Given the description of an element on the screen output the (x, y) to click on. 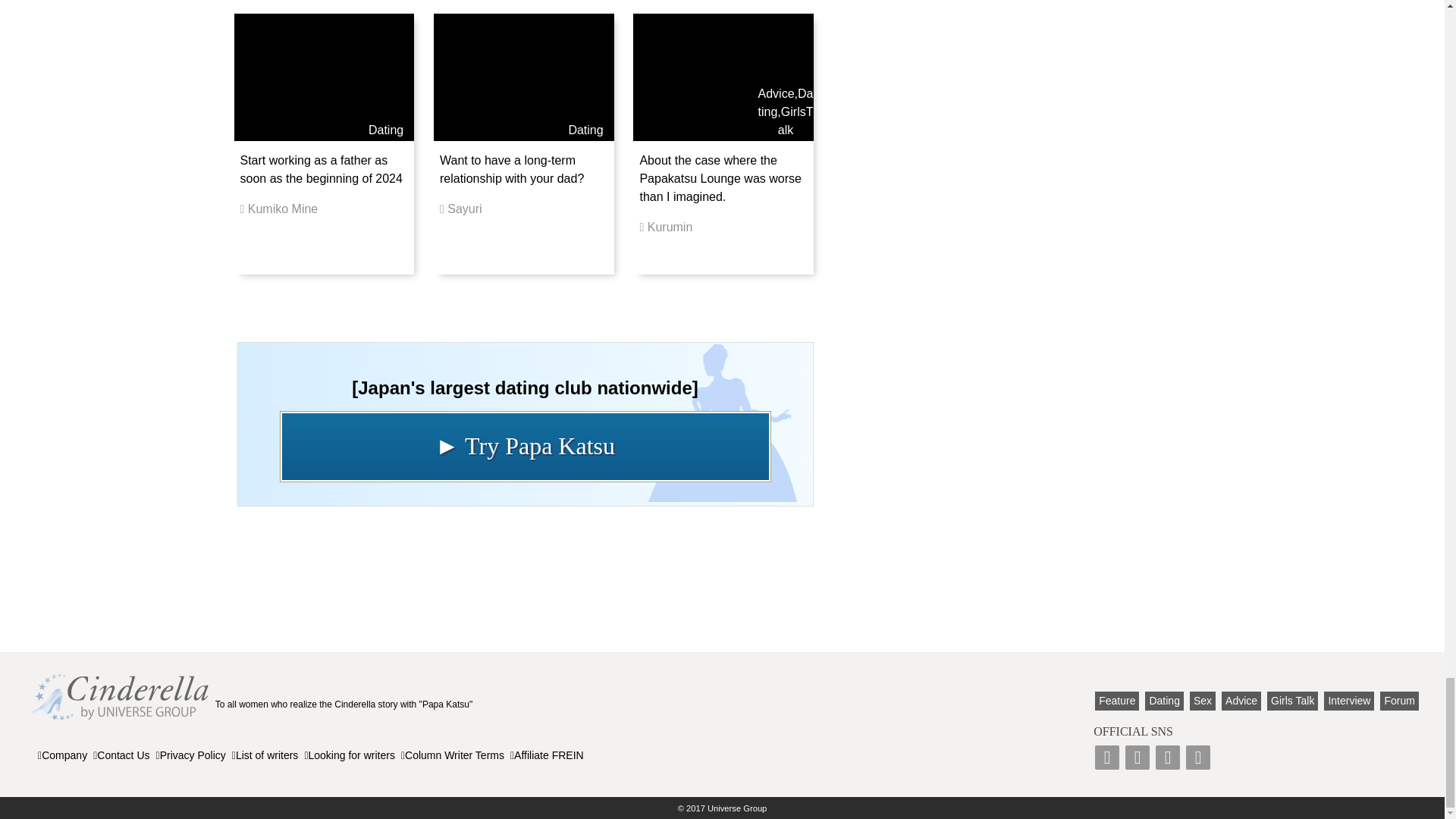
Affiliate FREIN (547, 755)
Dating (785, 101)
Start working as a father as soon as the beginning of 2024 (320, 169)
Dating (584, 129)
Advice (776, 92)
Dating (385, 129)
Want to have a long-term relationship with your dad? (511, 169)
